Given the description of an element on the screen output the (x, y) to click on. 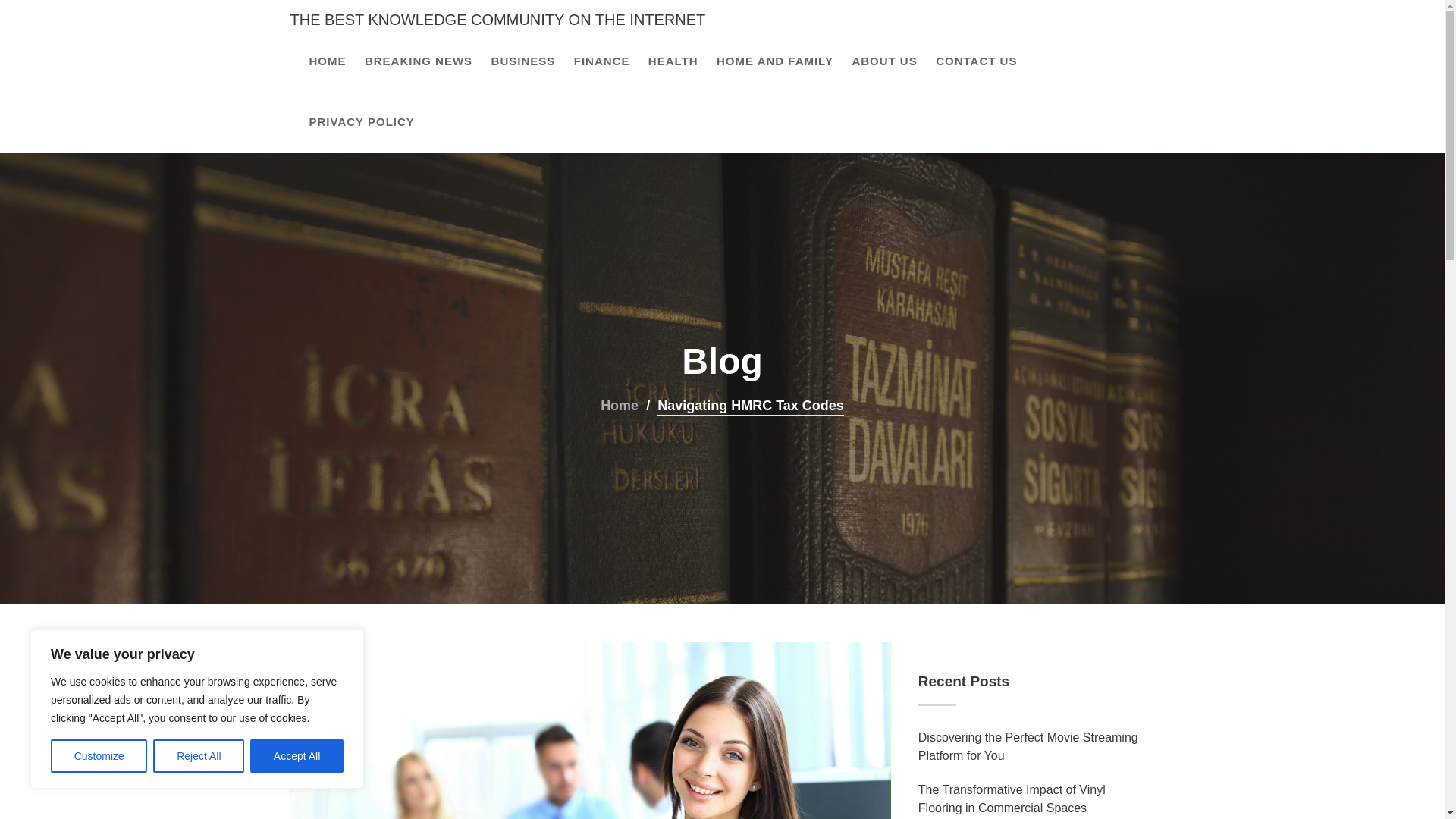
CONTACT US (976, 61)
FINANCE (601, 61)
HOME AND FAMILY (775, 61)
PRIVACY POLICY (361, 121)
THE BEST KNOWLEDGE COMMUNITY ON THE INTERNET (496, 19)
Accept All (296, 756)
HEALTH (673, 61)
The best knowledge community on the Internet (496, 19)
BREAKING NEWS (418, 61)
Home (619, 406)
